Given the description of an element on the screen output the (x, y) to click on. 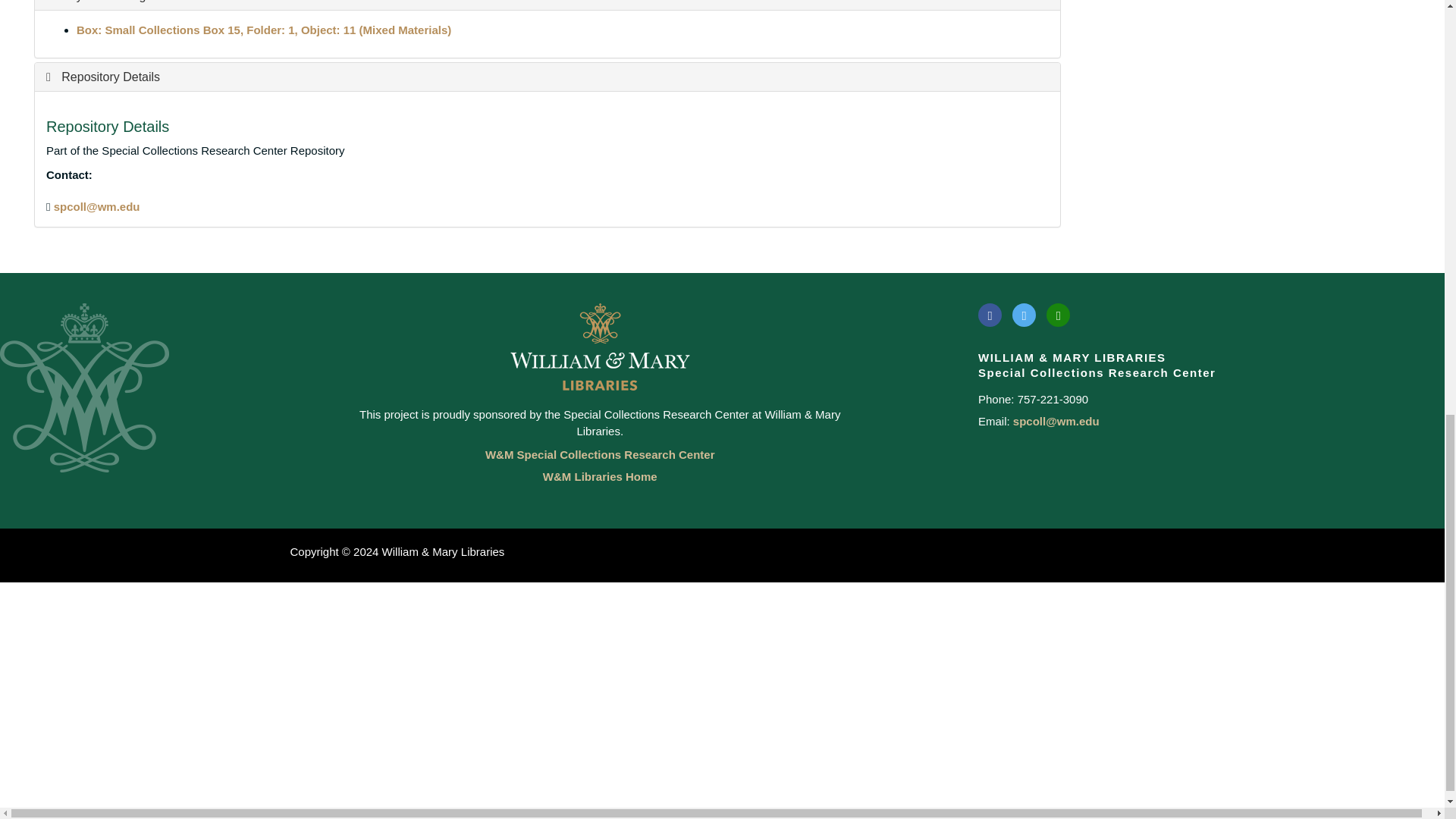
Physical Storage Information (131, 1)
Repository Details (103, 76)
Send email (96, 205)
